Given the description of an element on the screen output the (x, y) to click on. 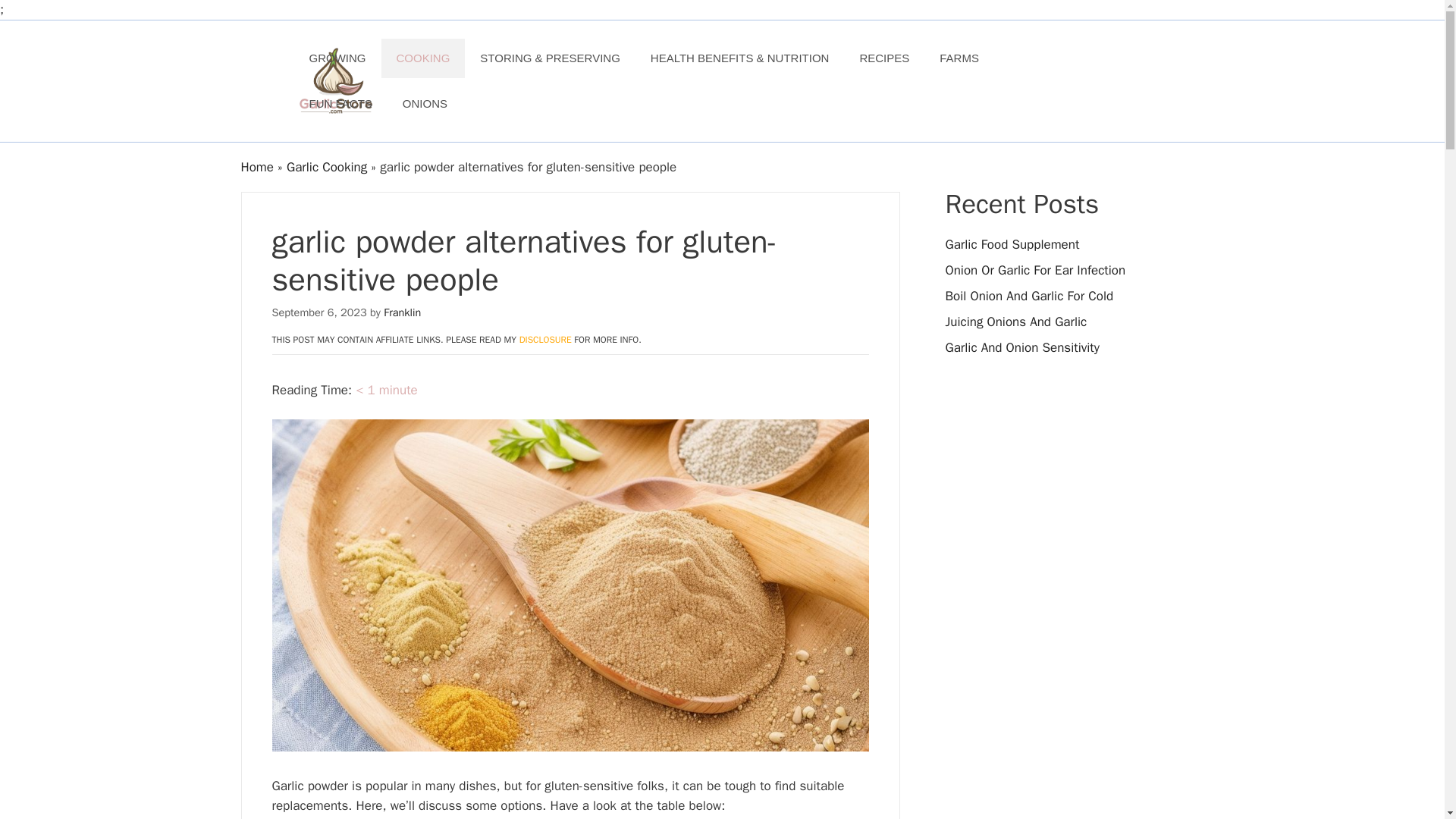
GROWING (337, 57)
Onion Or Garlic For Ear Infection (1034, 270)
Boil Onion And Garlic For Cold (1028, 295)
Garlic Store (334, 79)
Garlic Cooking (326, 166)
Home (257, 166)
Juicing Onions And Garlic (1015, 321)
ONIONS (425, 103)
View all posts by Franklin (402, 312)
RECIPES (884, 57)
